Given the description of an element on the screen output the (x, y) to click on. 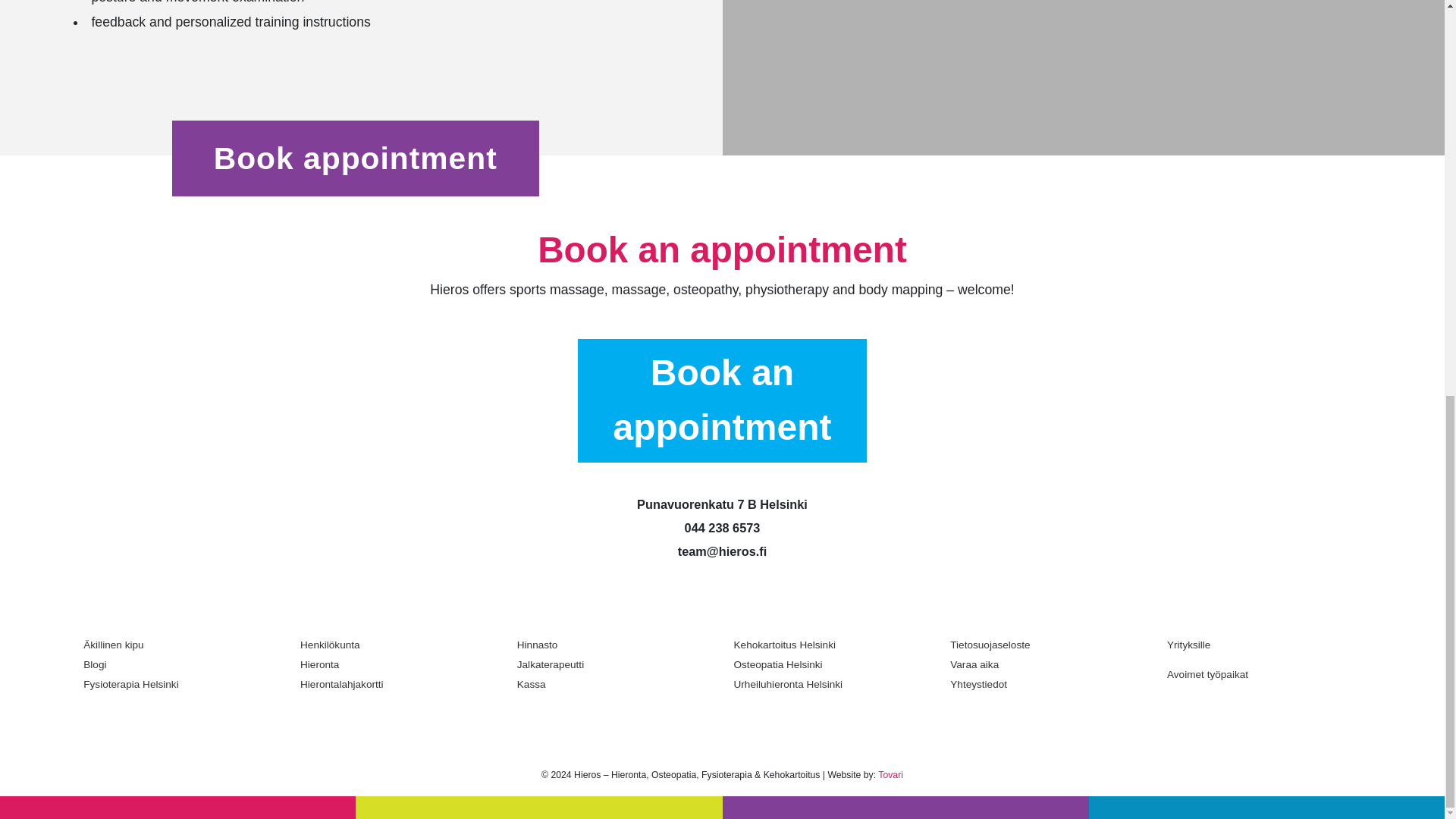
Yhteystiedot (1047, 684)
Jalkaterapeutti (613, 664)
Blogi (180, 664)
Osteopatia Helsinki (830, 664)
Hinnasto (613, 645)
Yrityksille (1264, 650)
Tietosuojaseloste (1047, 645)
Hierontalahjakortti (397, 684)
Fysioterapia Helsinki (180, 684)
Hieronta (397, 664)
Urheiluhieronta Helsinki (830, 684)
Marketing agency Tovari (889, 774)
Kehokartoitus Helsinki (830, 645)
Kassa (613, 684)
Varaa aika (1047, 664)
